Given the description of an element on the screen output the (x, y) to click on. 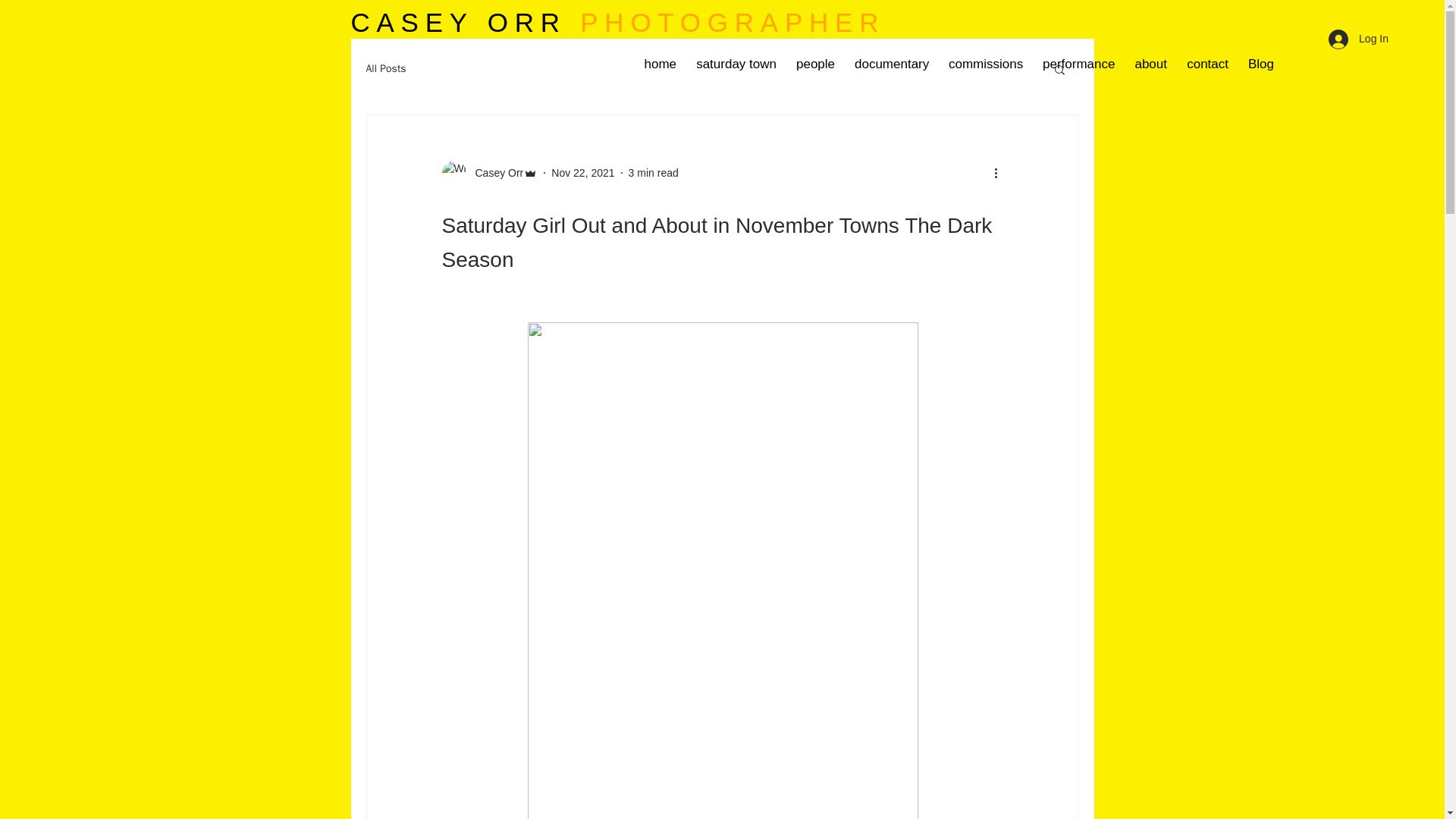
Log In (1358, 38)
All Posts (385, 69)
Casey Orr (489, 172)
Casey  Orr (493, 172)
3 min read (653, 173)
performance (1078, 63)
people (815, 63)
about (1150, 63)
PHOTOGRAPHER (732, 21)
commissions (985, 63)
documentary (891, 63)
Nov 22, 2021 (582, 173)
contact (1207, 63)
saturday town (735, 63)
CASEY ORR (458, 21)
